Given the description of an element on the screen output the (x, y) to click on. 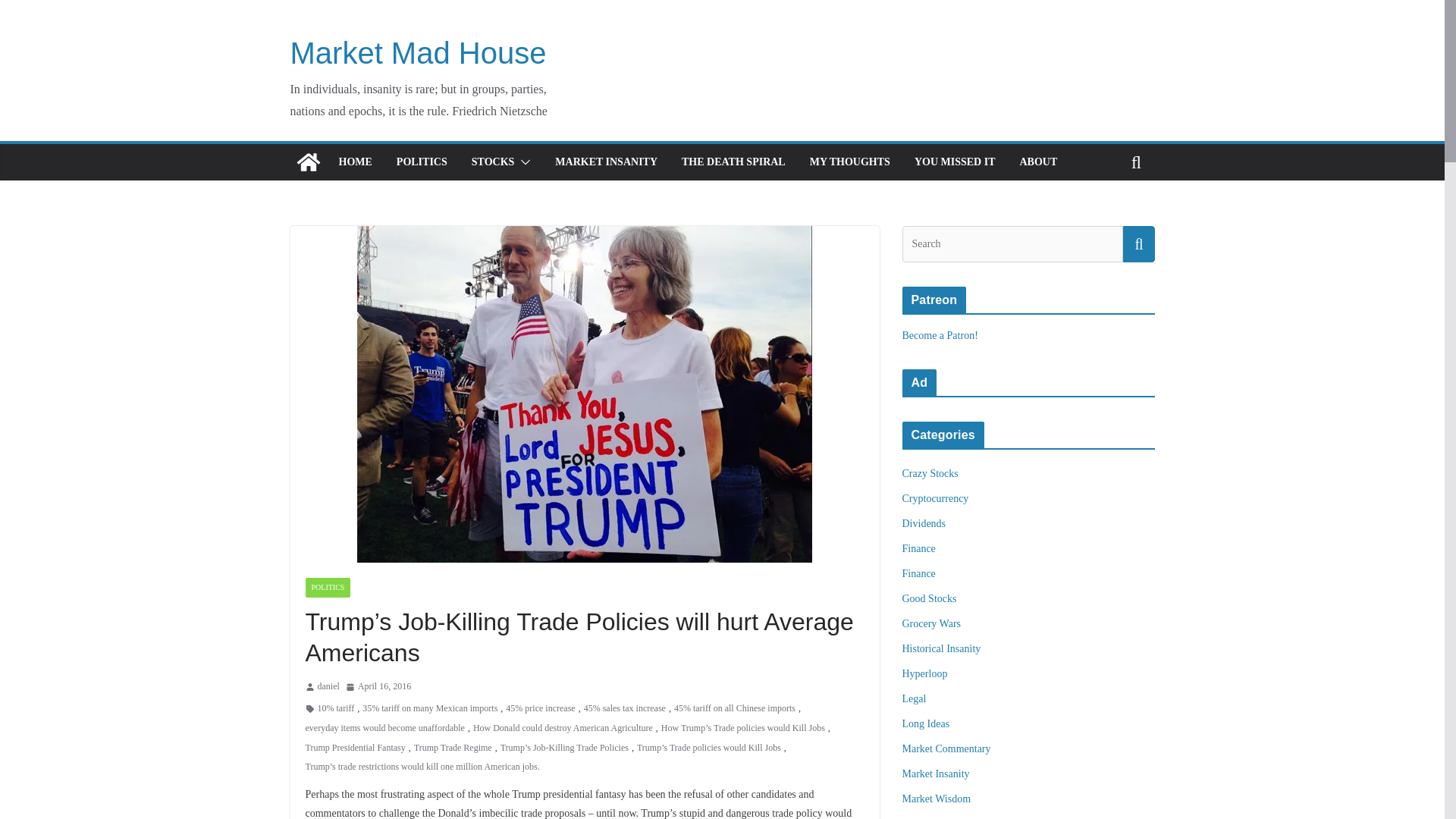
5:13 pm (378, 686)
POLITICS (327, 587)
THE DEATH SPIRAL (733, 161)
Market Mad House (417, 52)
HOME (354, 161)
Market Mad House (307, 162)
STOCKS (493, 161)
MY THOUGHTS (849, 161)
Market Mad House (417, 52)
How Donald could destroy American Agriculture (562, 728)
daniel (328, 686)
everyday items would become unaffordable (384, 728)
April 16, 2016 (378, 686)
MARKET INSANITY (606, 161)
Trump Trade Regime (452, 748)
